Given the description of an element on the screen output the (x, y) to click on. 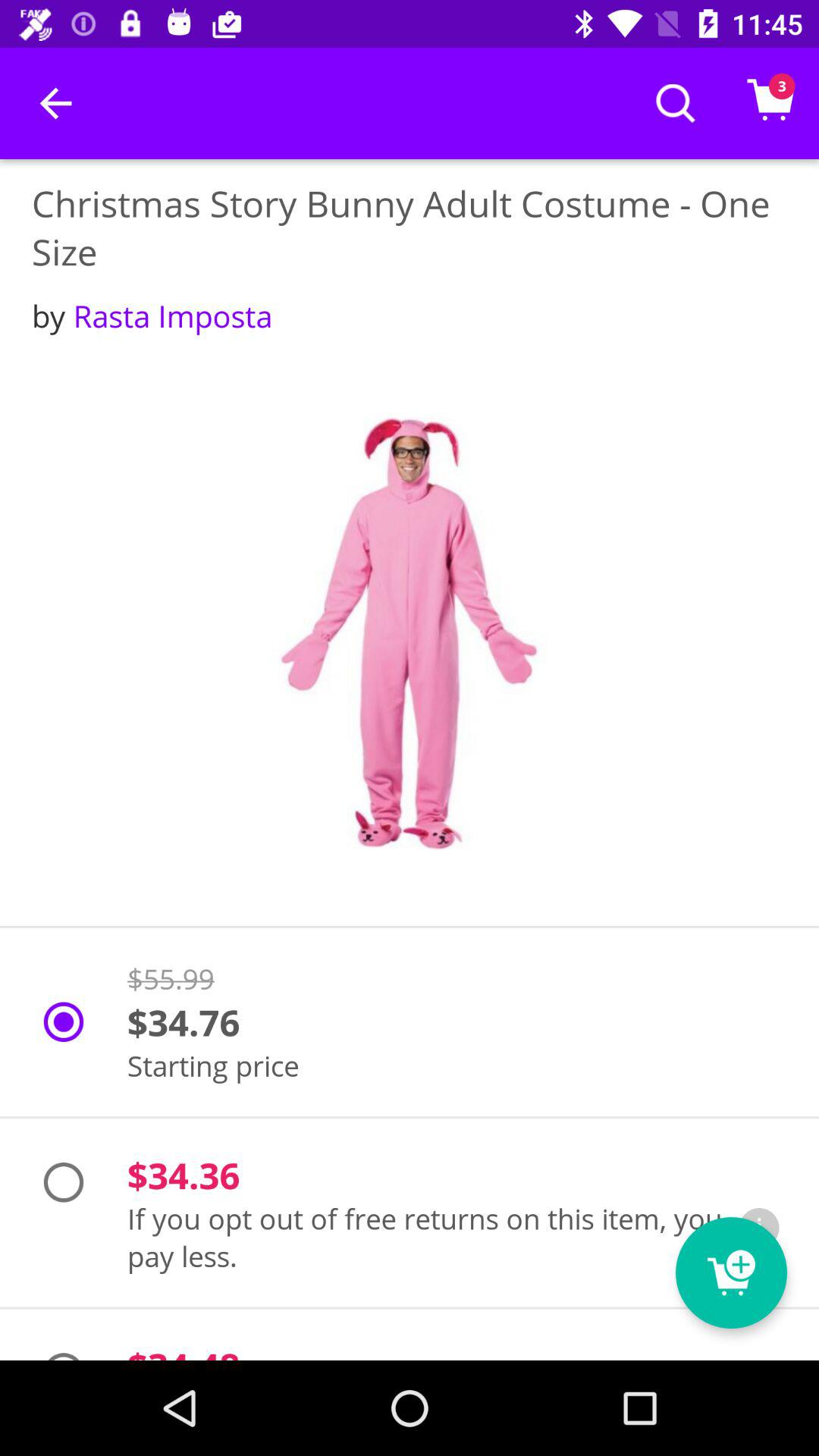
turn on icon to the right of the if you opt (759, 1227)
